Given the description of an element on the screen output the (x, y) to click on. 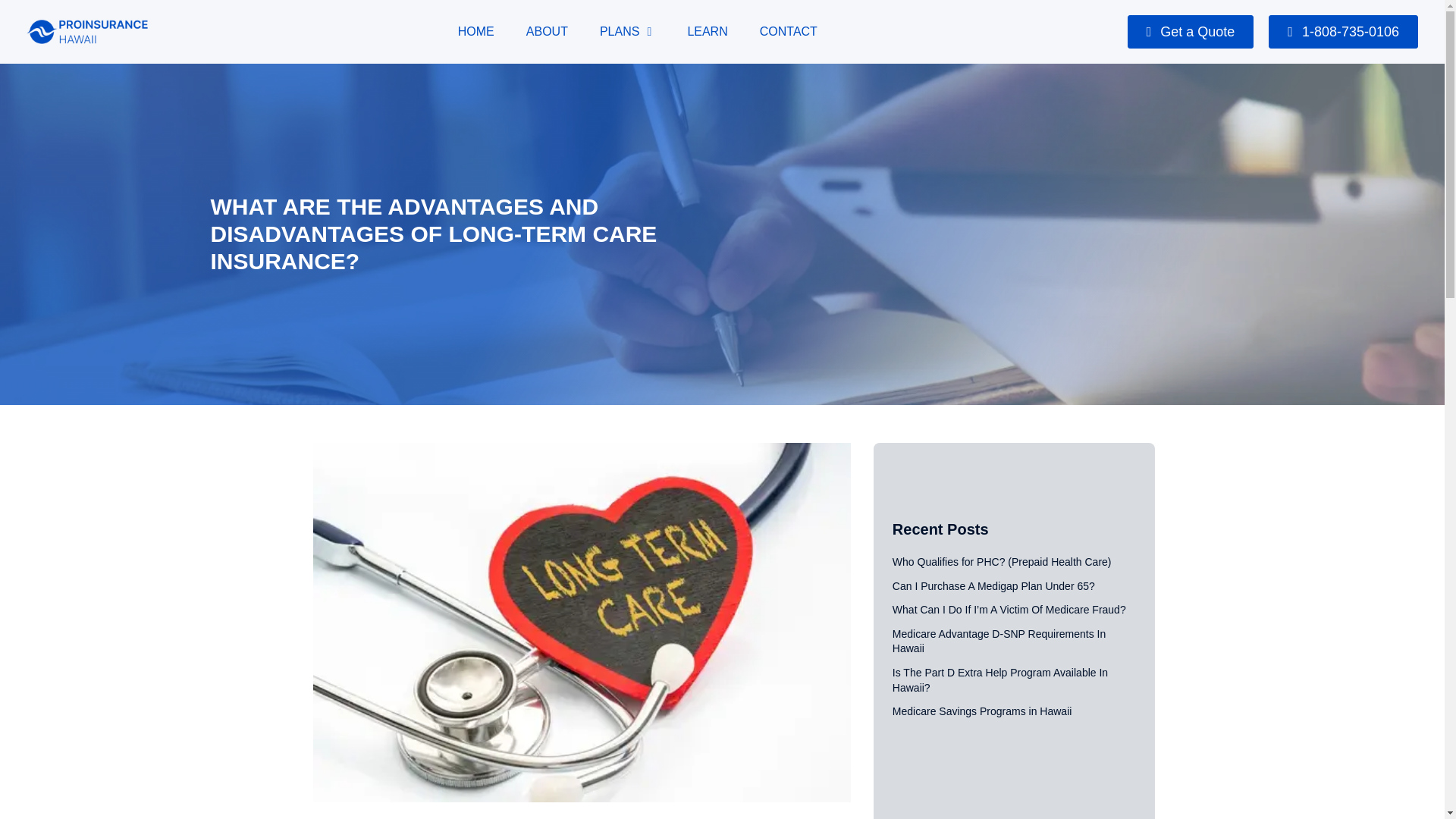
1-808-735-0106 (1343, 31)
LEARN (706, 31)
Get a Quote (1189, 31)
PLANS (619, 31)
HOME (476, 31)
ABOUT (546, 31)
CONTACT (788, 31)
